Given the description of an element on the screen output the (x, y) to click on. 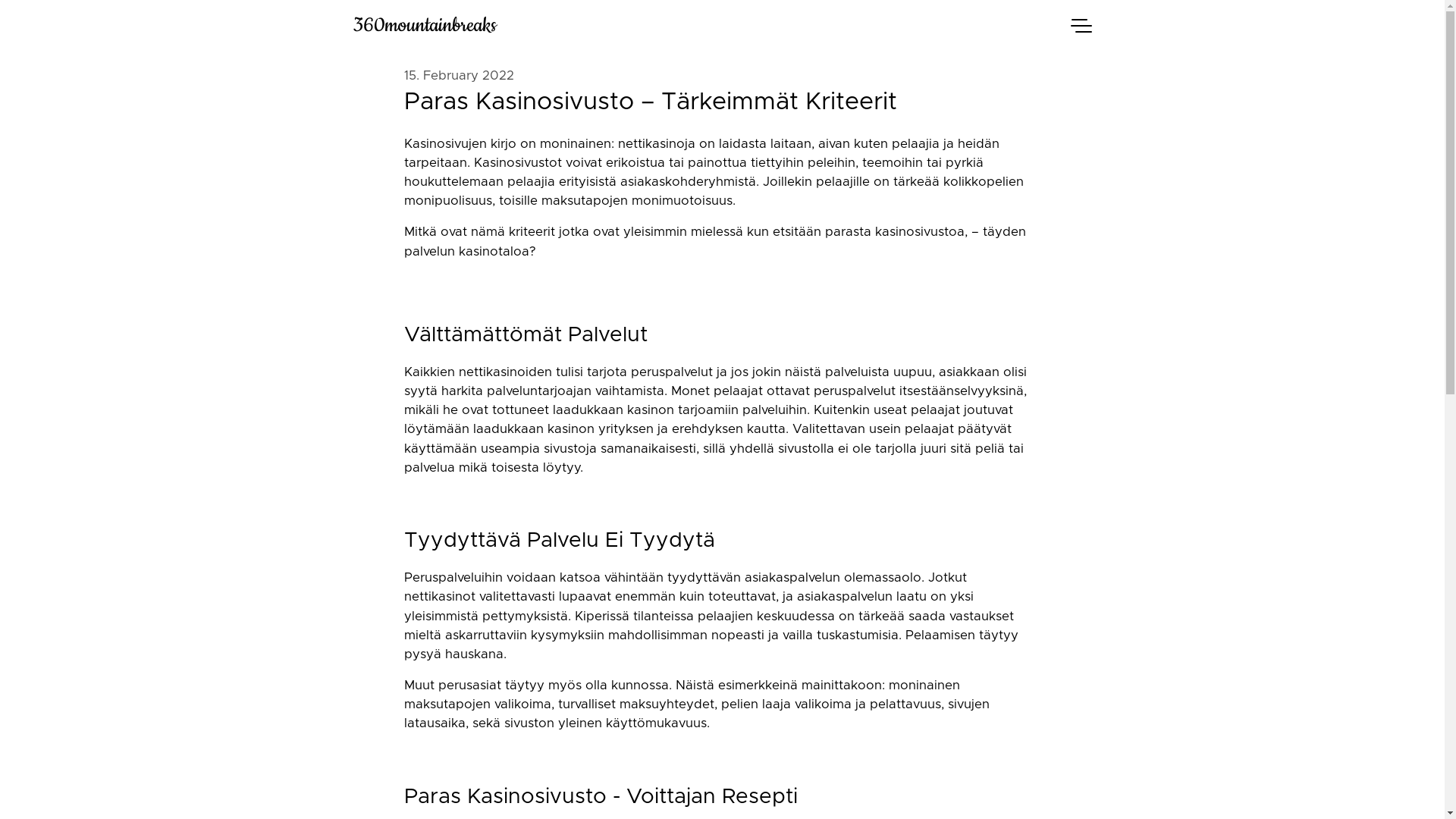
360mountainbreaks Element type: text (701, 25)
